Given the description of an element on the screen output the (x, y) to click on. 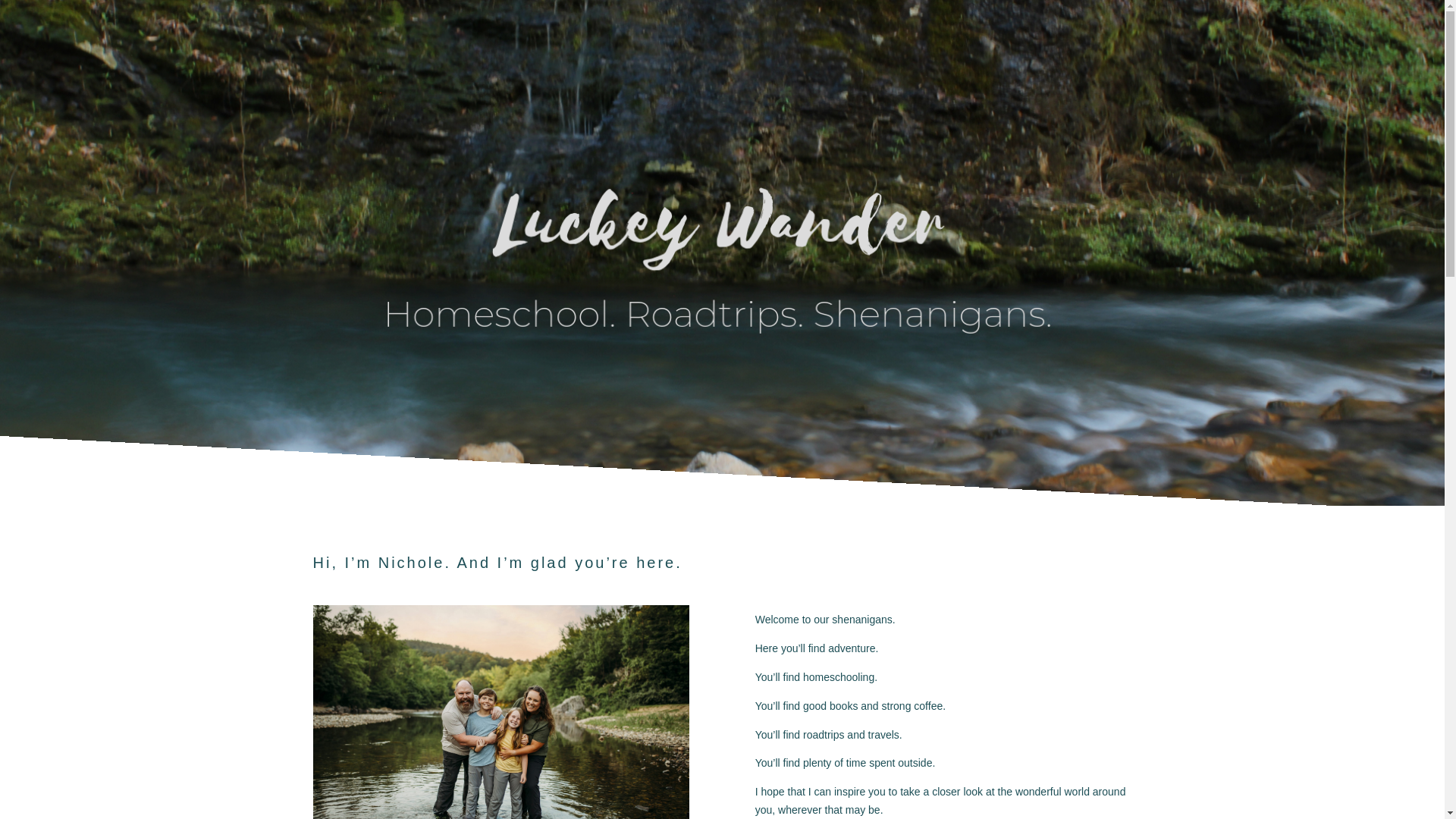
smaller 3 (500, 712)
